Given the description of an element on the screen output the (x, y) to click on. 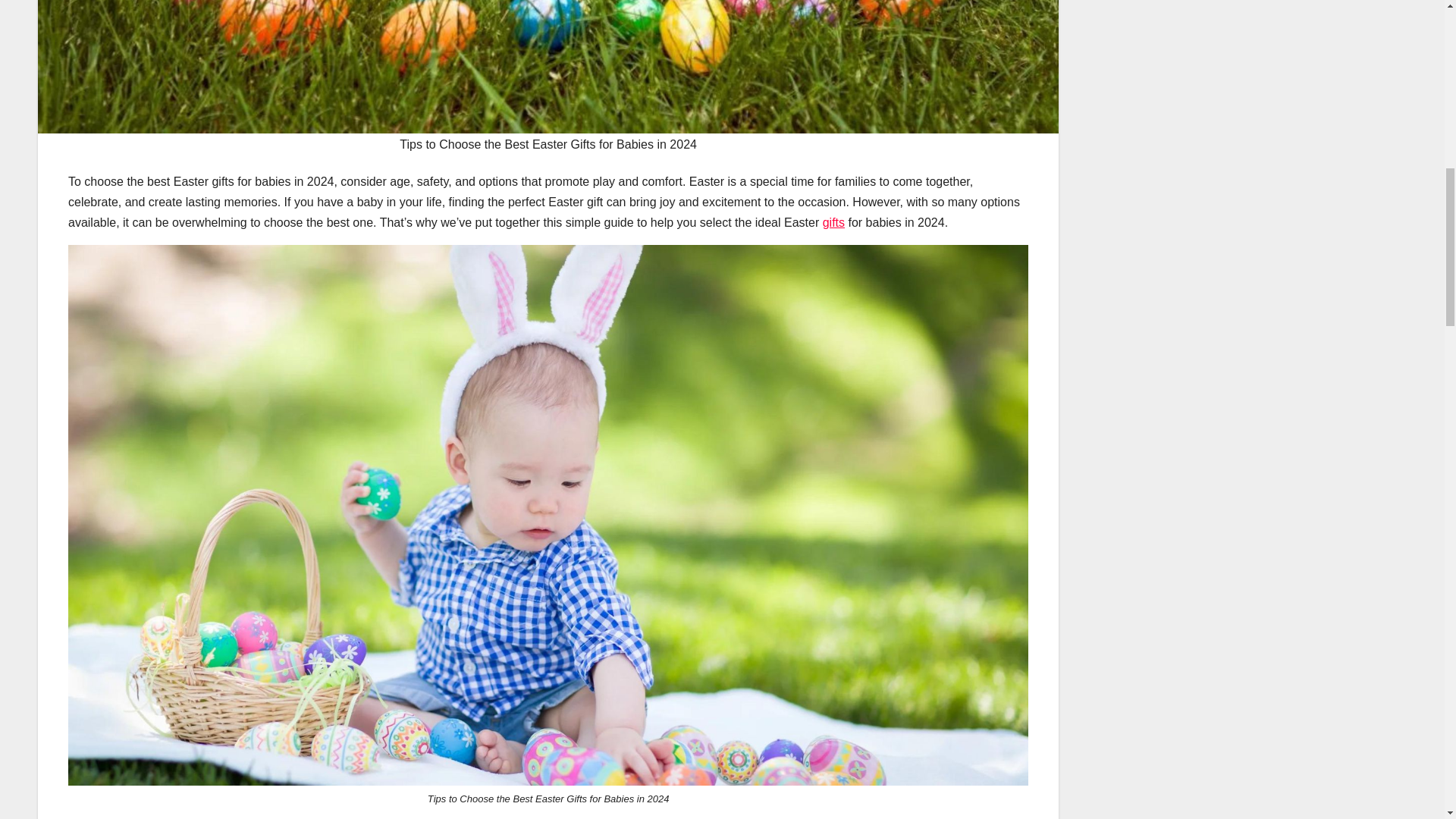
gifts (833, 222)
